Given the description of an element on the screen output the (x, y) to click on. 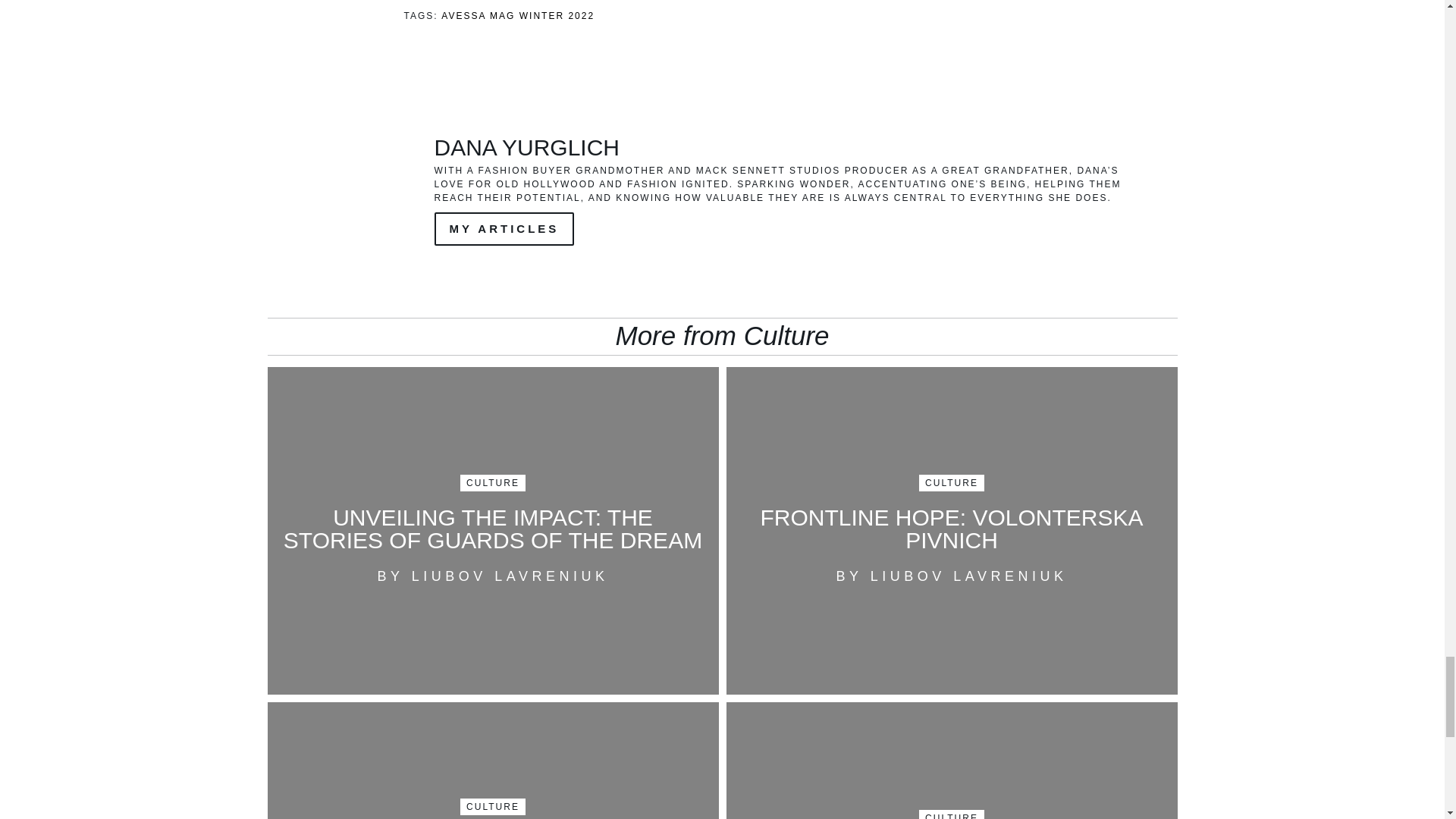
MY ARTICLES (503, 228)
AVESSA MAG WINTER 2022 (517, 15)
DANA YURGLICH (526, 151)
FRONTLINE HOPE: VOLONTERSKA PIVNICH (951, 528)
Culture (786, 335)
UNVEILING THE IMPACT: THE STORIES OF GUARDS OF THE DREAM (492, 528)
